Given the description of an element on the screen output the (x, y) to click on. 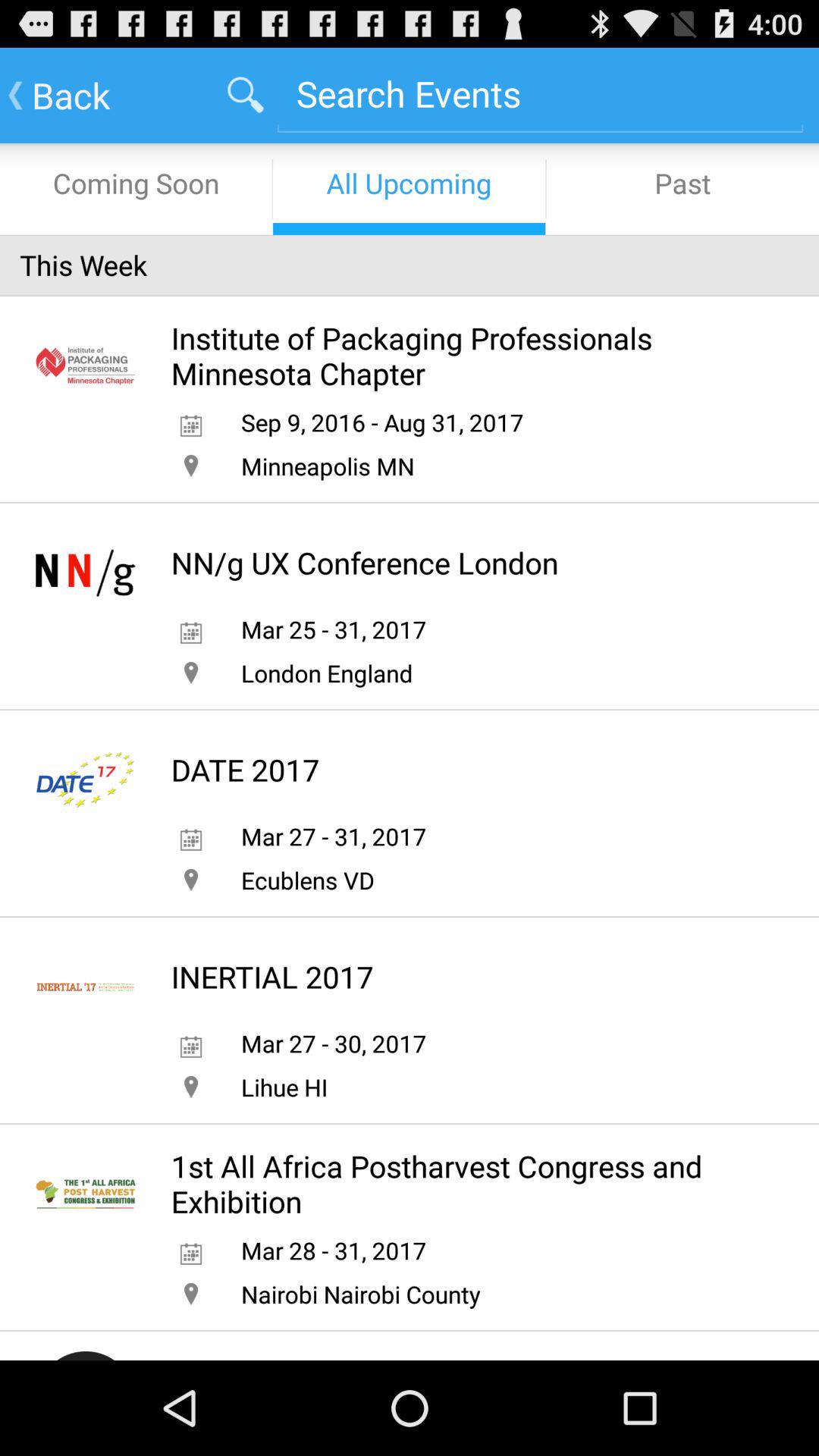
select nairobi nairobi county icon (360, 1293)
